Given the description of an element on the screen output the (x, y) to click on. 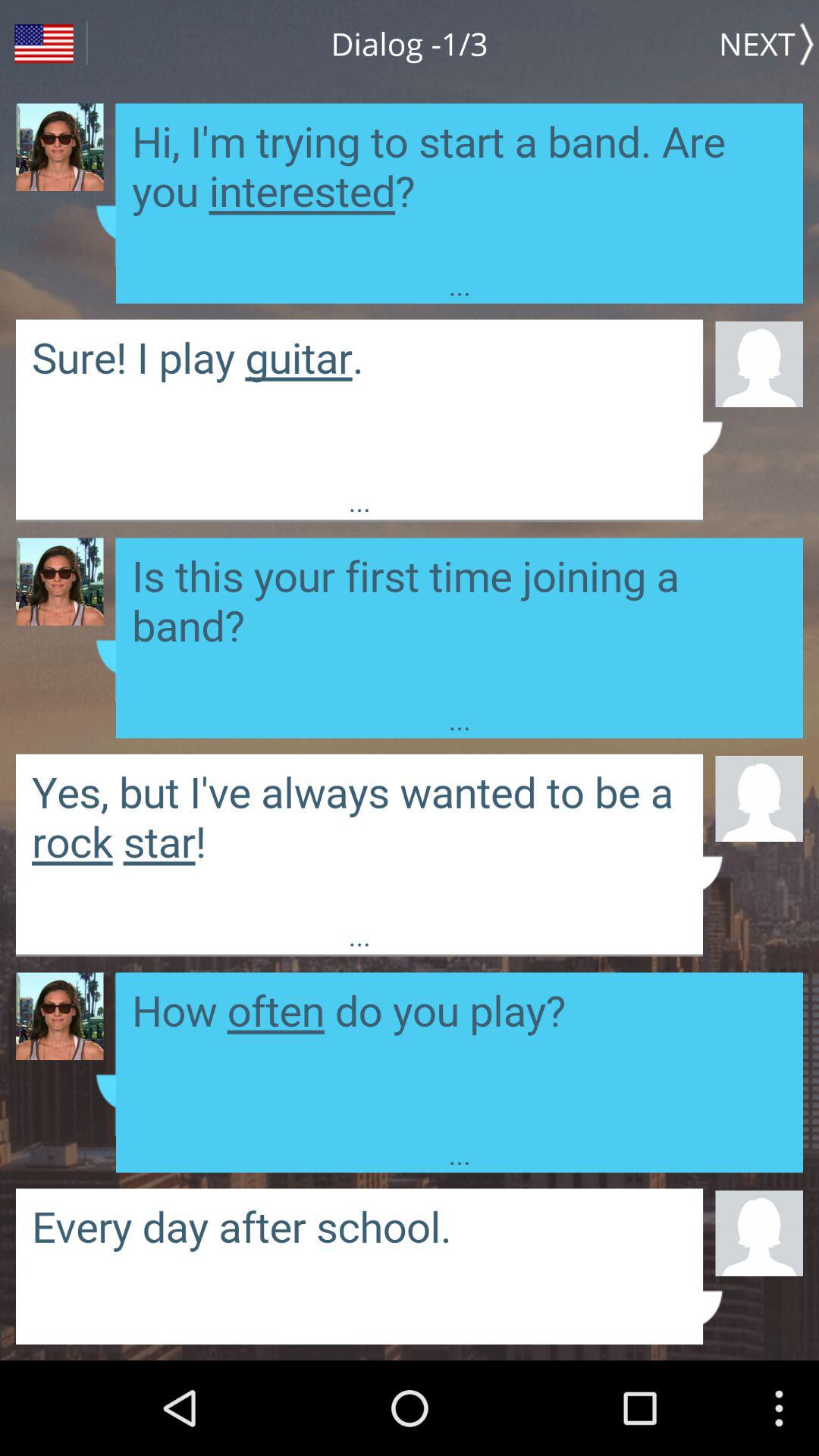
select item to the right of the dialog -1/3 item (768, 43)
